Given the description of an element on the screen output the (x, y) to click on. 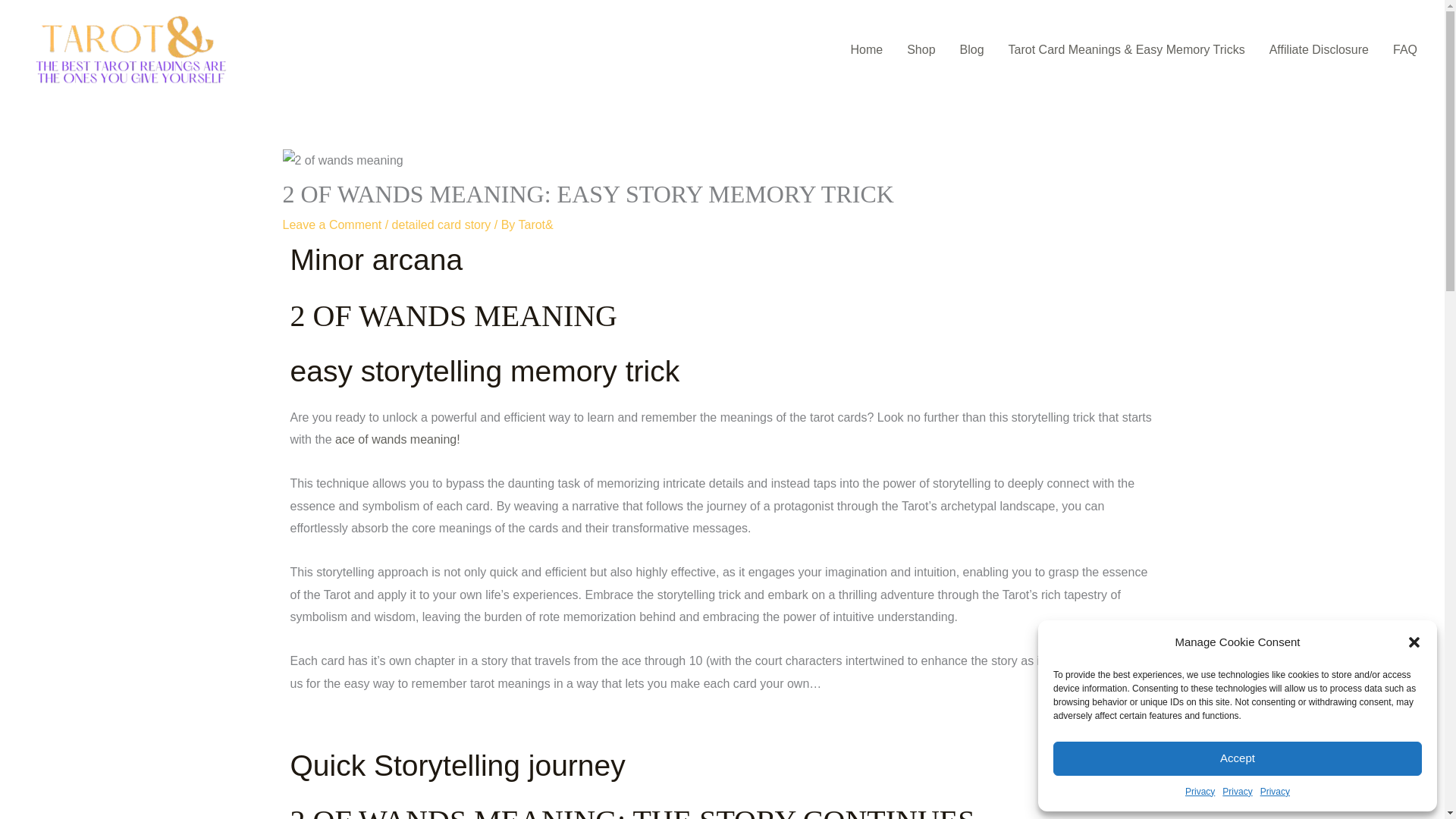
Blog (971, 49)
Privacy (1275, 791)
Leave a Comment (331, 224)
Accept (1237, 758)
detailed card story (441, 224)
Affiliate Disclosure (1318, 49)
Privacy (1199, 791)
Shop (921, 49)
Privacy (1237, 791)
Home (866, 49)
